Given the description of an element on the screen output the (x, y) to click on. 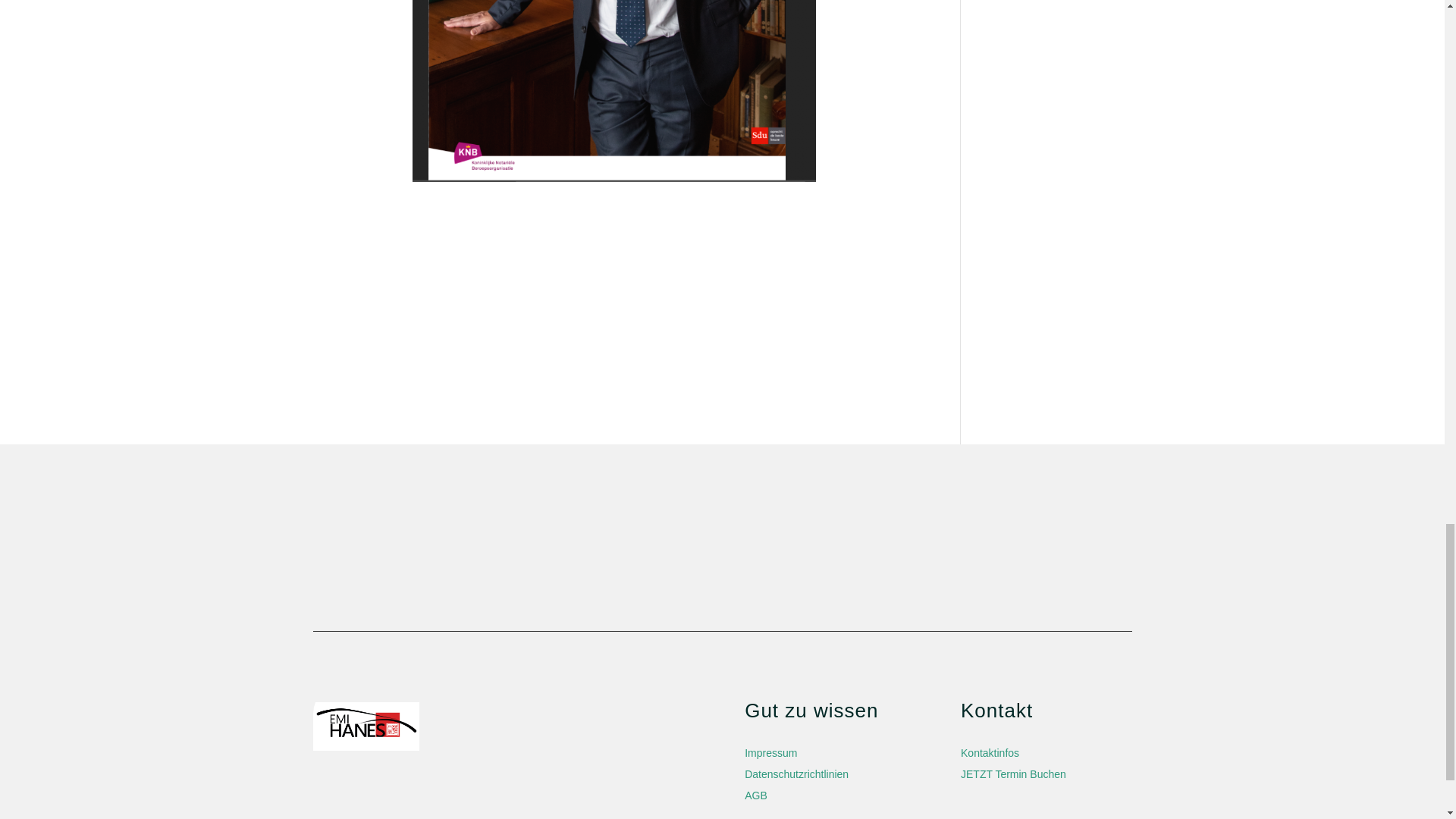
Kontaktinfos (989, 752)
Datenschutzrichtlinien (796, 774)
AGB (755, 795)
JETZT Termin Buchen (1012, 774)
foto victor meijers (614, 90)
Impressum (770, 752)
